Given the description of an element on the screen output the (x, y) to click on. 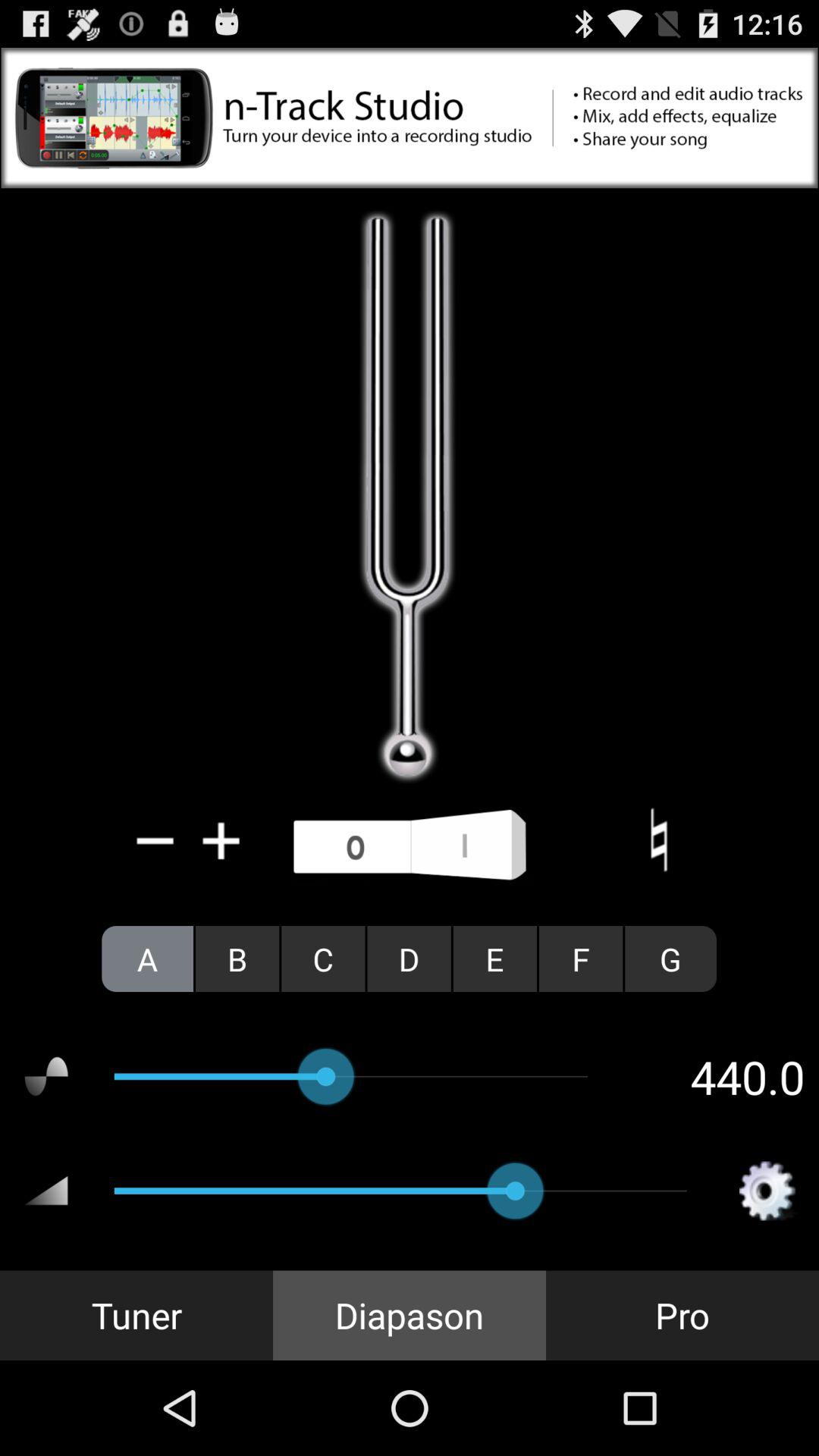
increase volume (221, 840)
